Given the description of an element on the screen output the (x, y) to click on. 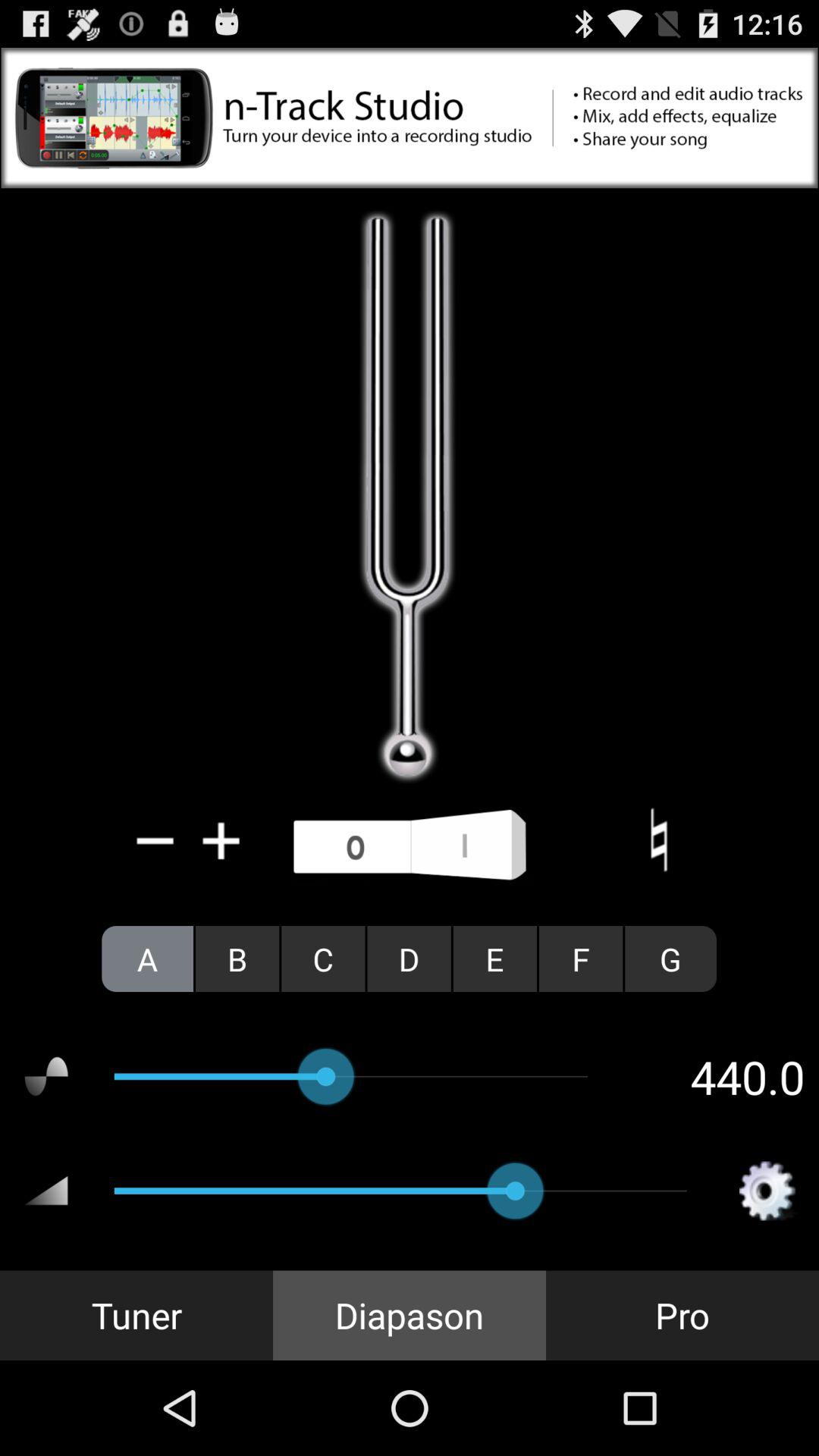
increase volume (221, 840)
